Given the description of an element on the screen output the (x, y) to click on. 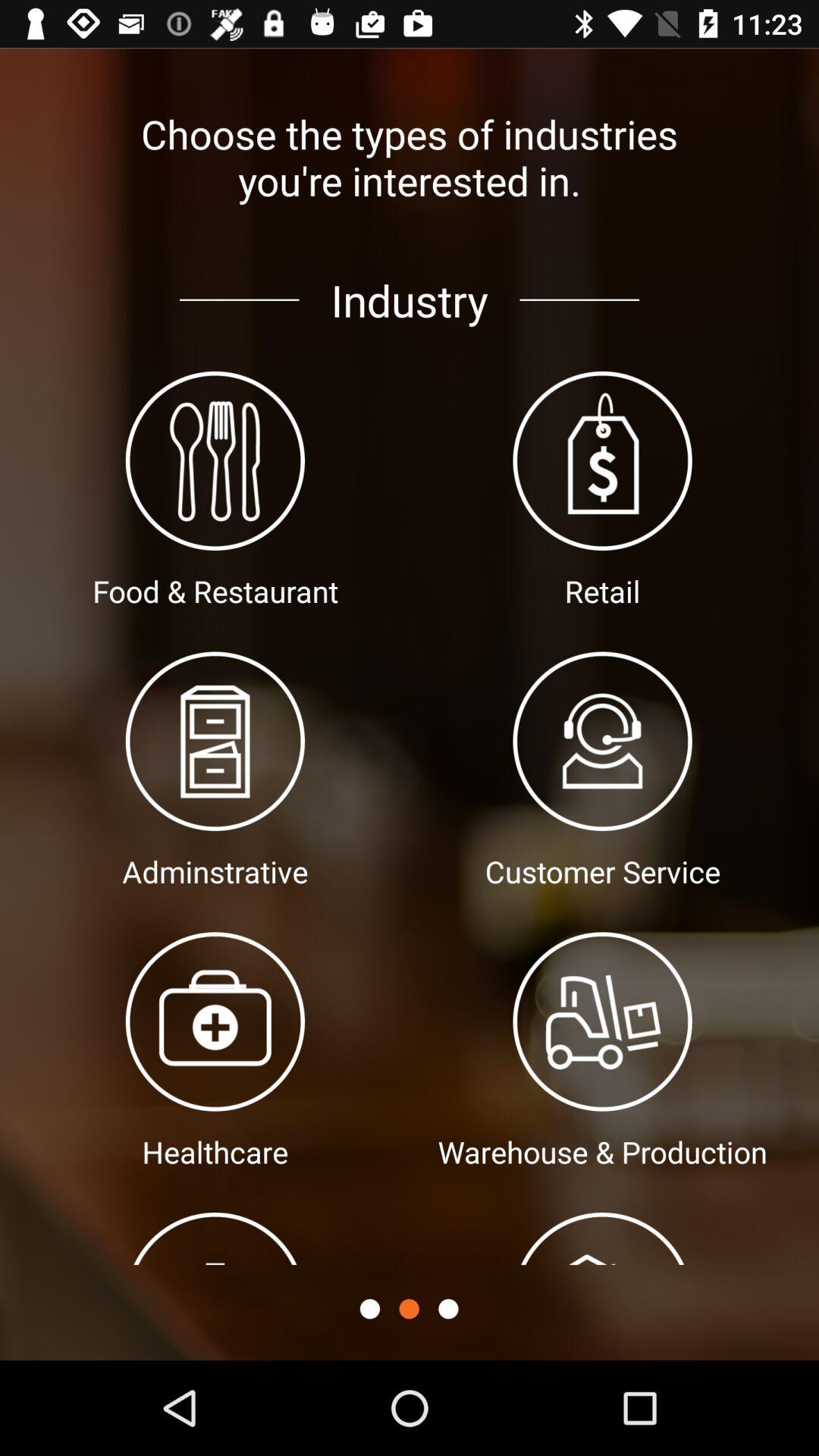
go back (369, 1308)
